Given the description of an element on the screen output the (x, y) to click on. 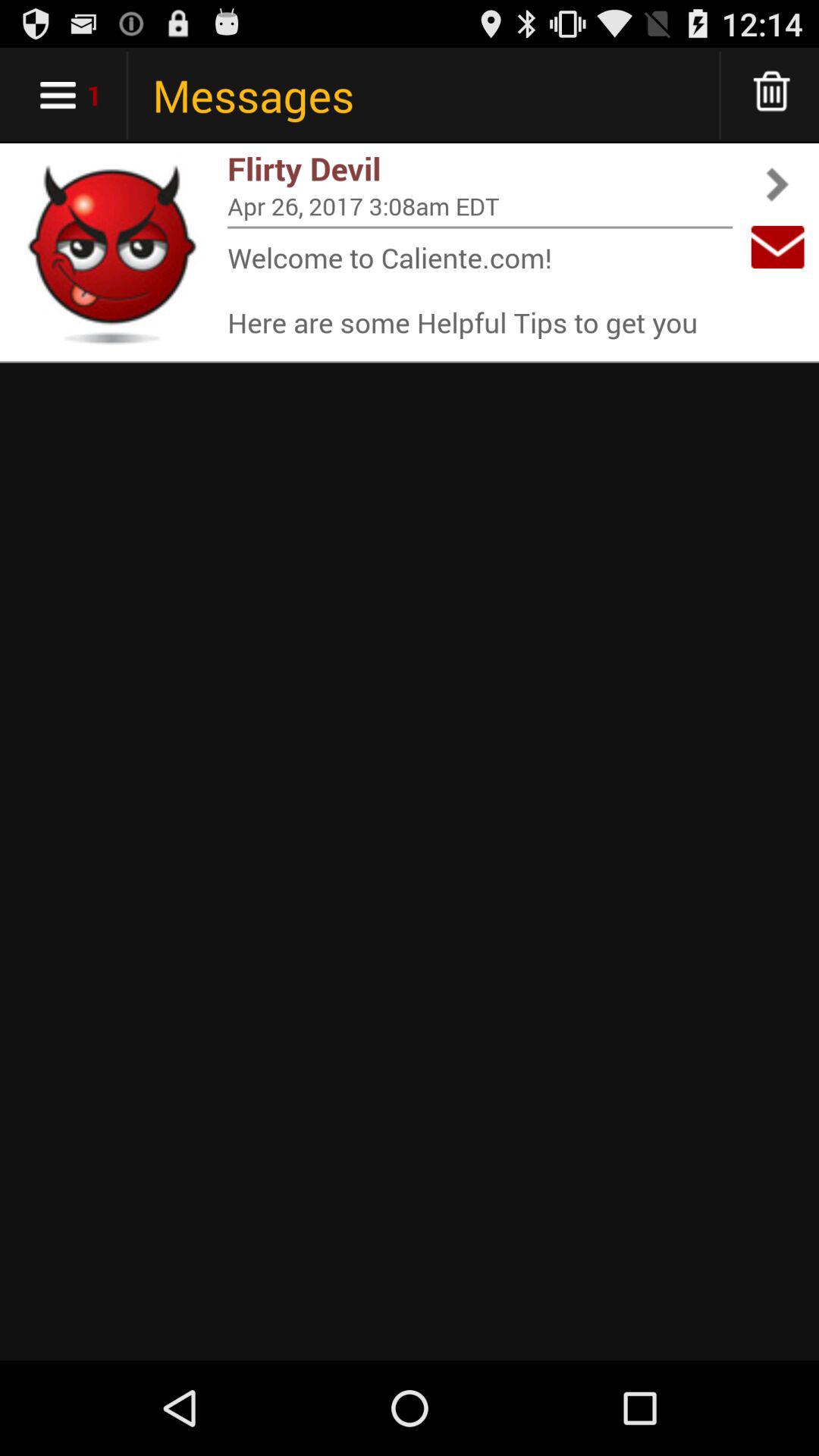
turn off the item below the flirty devil (479, 205)
